Given the description of an element on the screen output the (x, y) to click on. 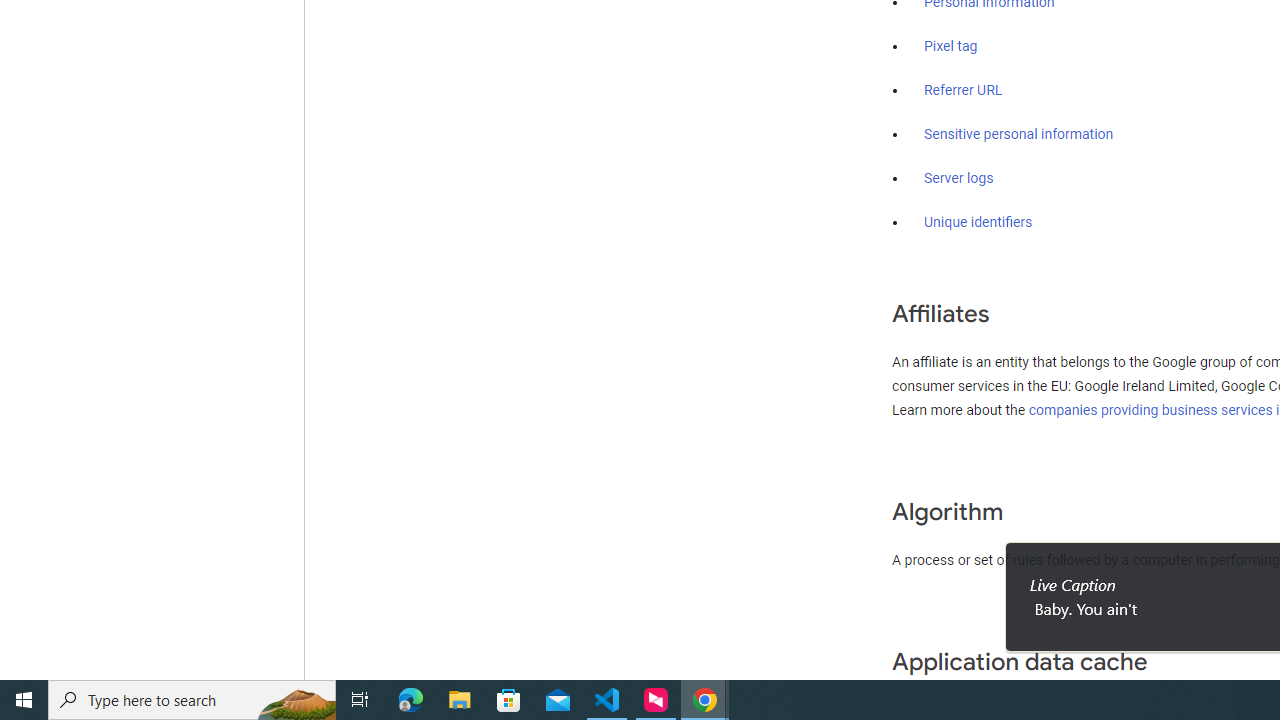
Server logs (959, 178)
Pixel tag (950, 47)
Sensitive personal information (1018, 134)
Unique identifiers (978, 222)
Referrer URL (963, 91)
